Given the description of an element on the screen output the (x, y) to click on. 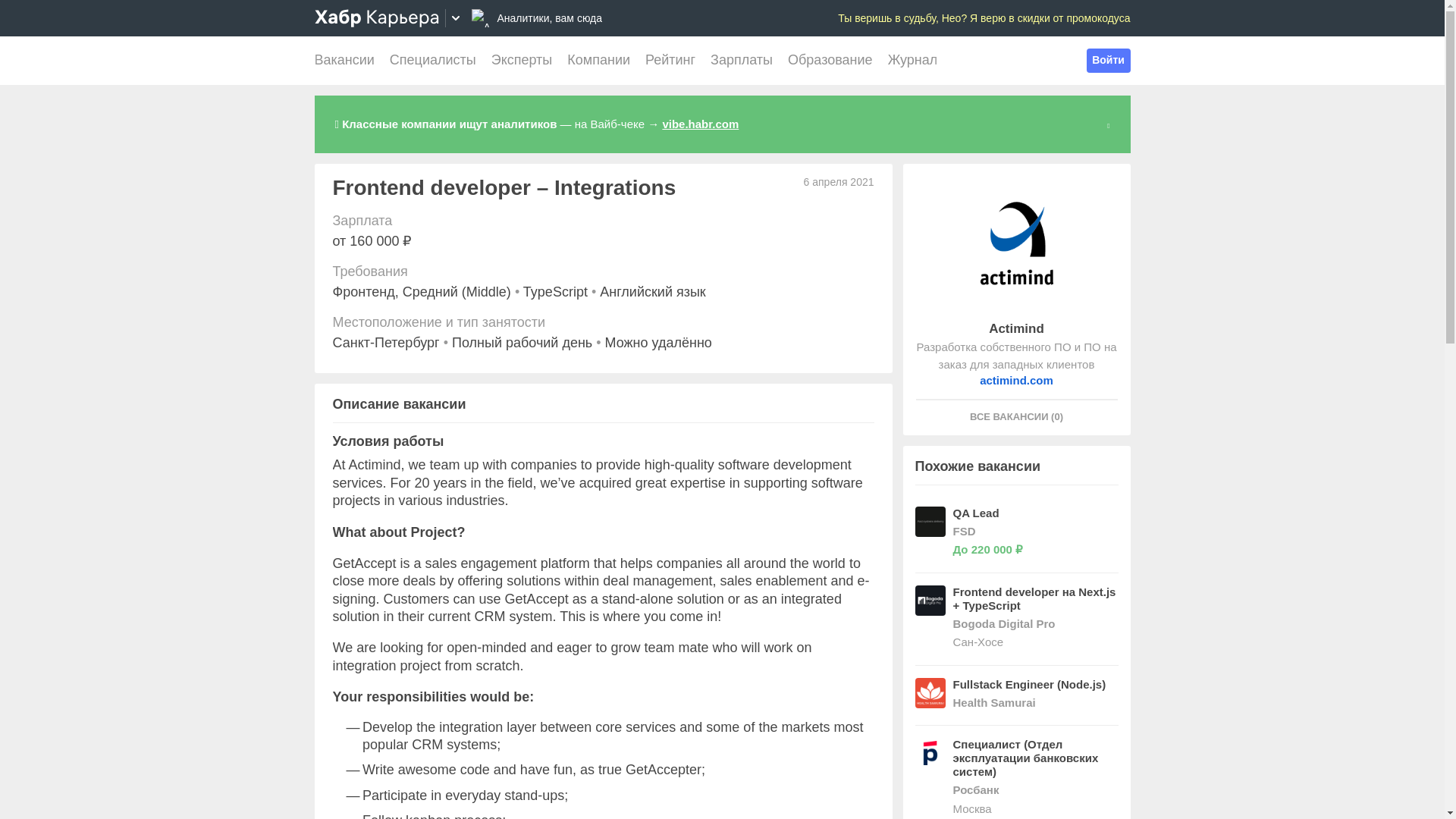
vibe.habr.com (700, 123)
TypeScript (555, 291)
